Given the description of an element on the screen output the (x, y) to click on. 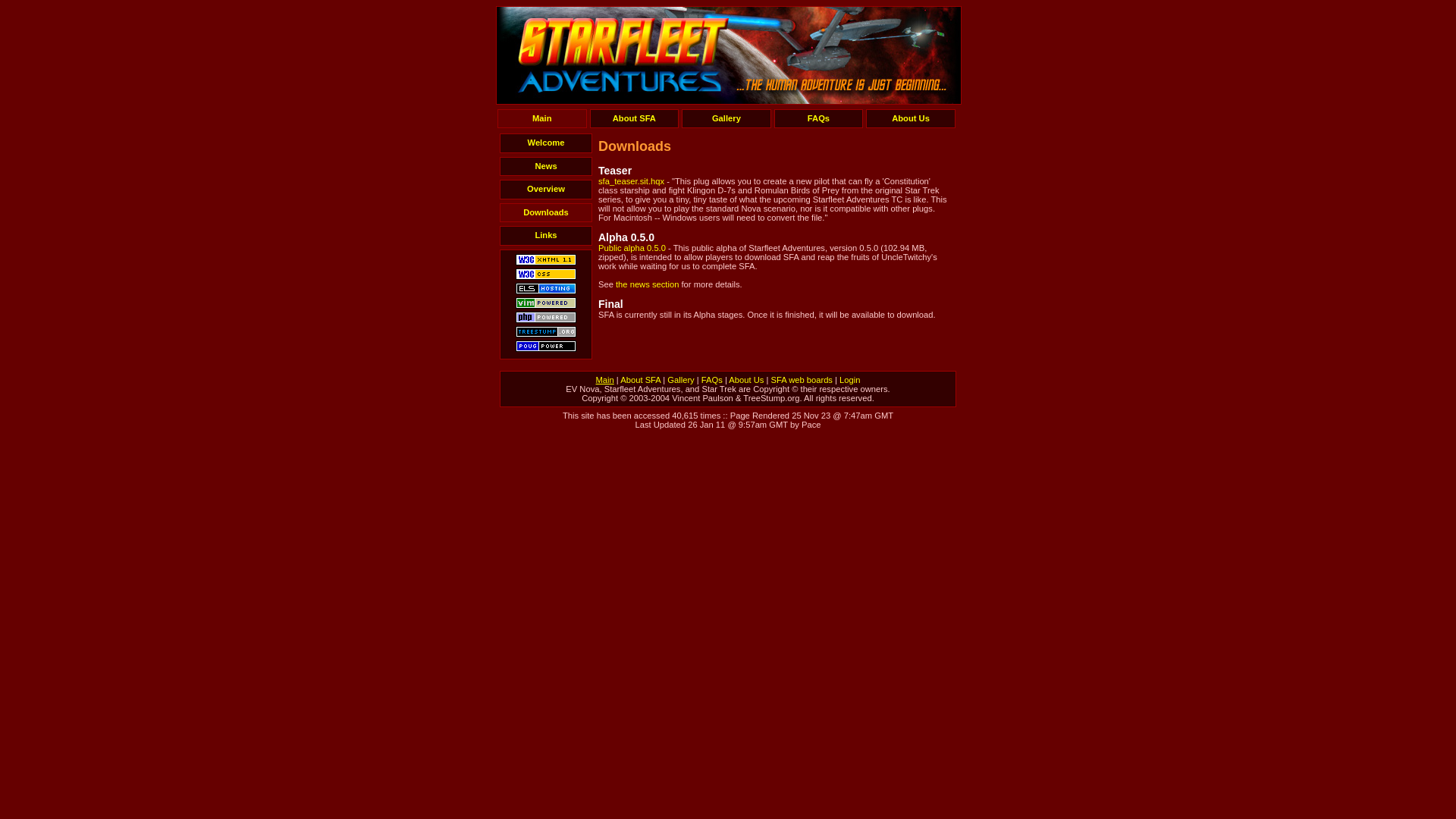
News Element type: text (545, 165)
About SFA Element type: text (640, 379)
Main Element type: text (541, 118)
SFA web boards Element type: text (800, 379)
Downloads Element type: text (545, 212)
About Us Element type: text (745, 379)
About SFA Element type: text (634, 118)
the news section Element type: text (646, 283)
Gallery Element type: text (680, 379)
Main Element type: text (605, 379)
About Us Element type: text (910, 118)
Login Element type: text (849, 379)
Overview Element type: text (545, 188)
Welcome Element type: text (545, 142)
Public alpha 0.5.0 Element type: text (631, 247)
Links Element type: text (545, 234)
FAQs Element type: text (818, 118)
Gallery Element type: text (726, 118)
FAQs Element type: text (711, 379)
sfa_teaser.sit.hqx Element type: text (631, 180)
